Given the description of an element on the screen output the (x, y) to click on. 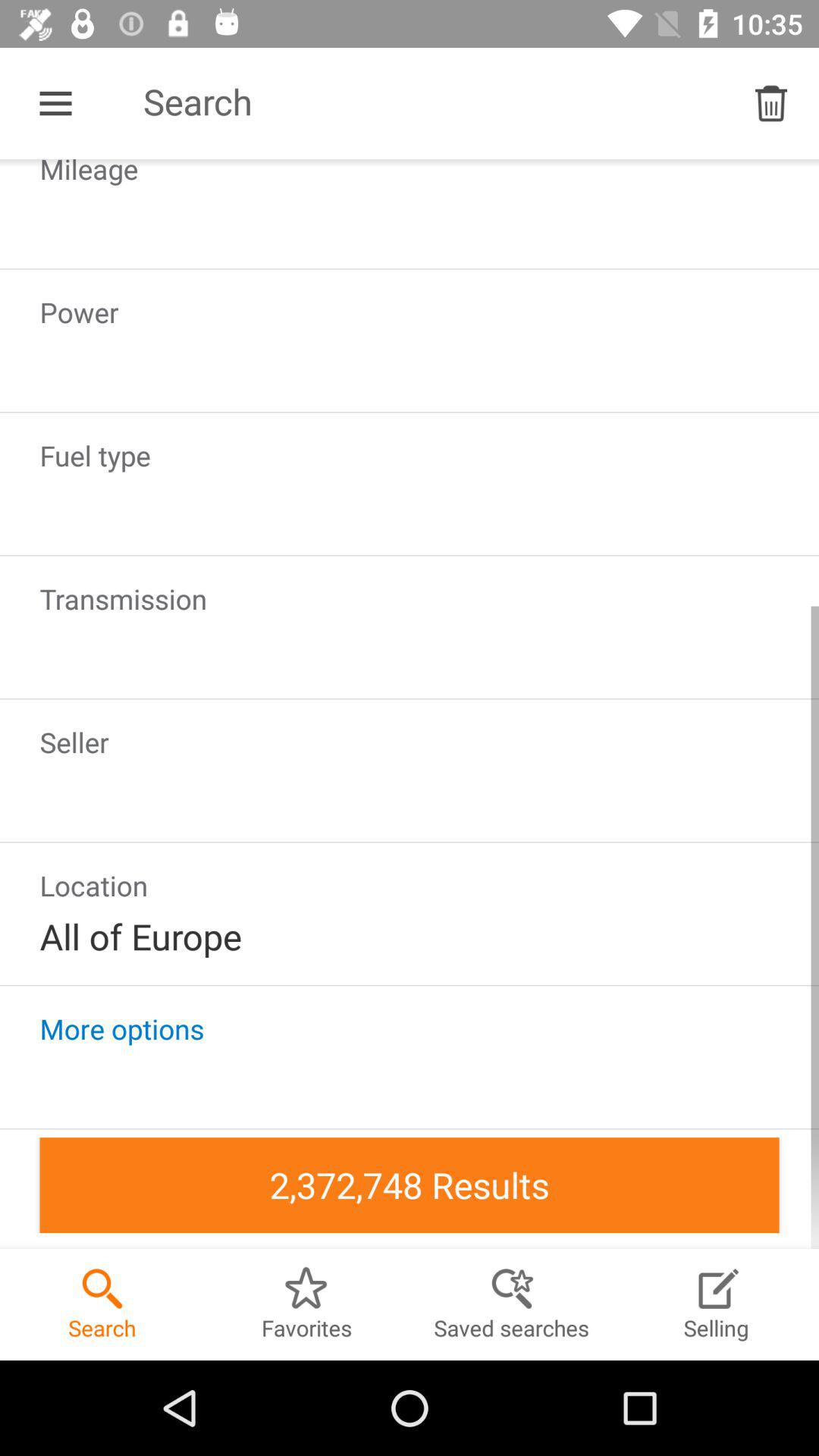
turn on item to the left of the search (55, 103)
